Given the description of an element on the screen output the (x, y) to click on. 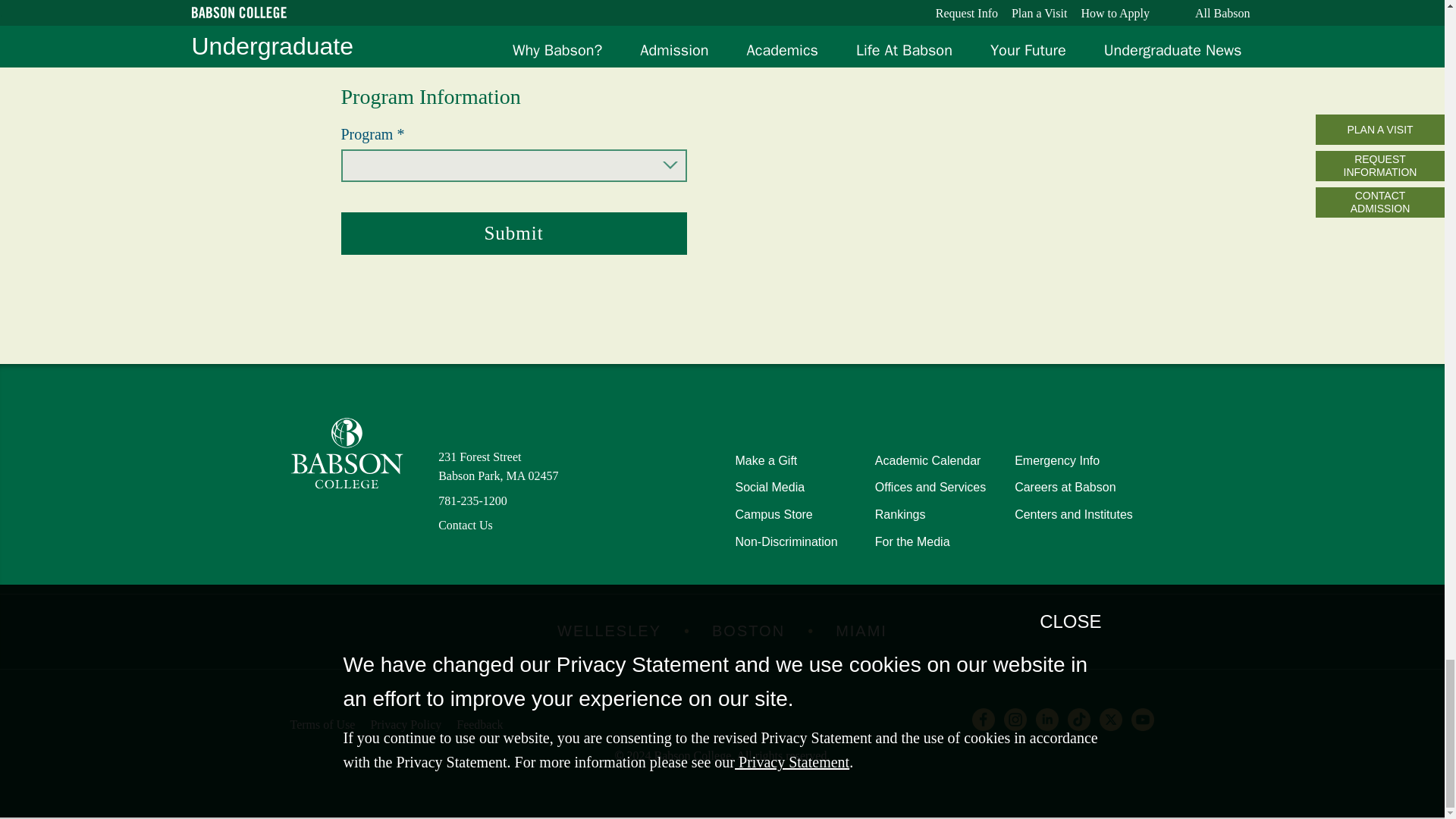
Babson CollegeWhite Babson logo with globe graphic (346, 452)
